Given the description of an element on the screen output the (x, y) to click on. 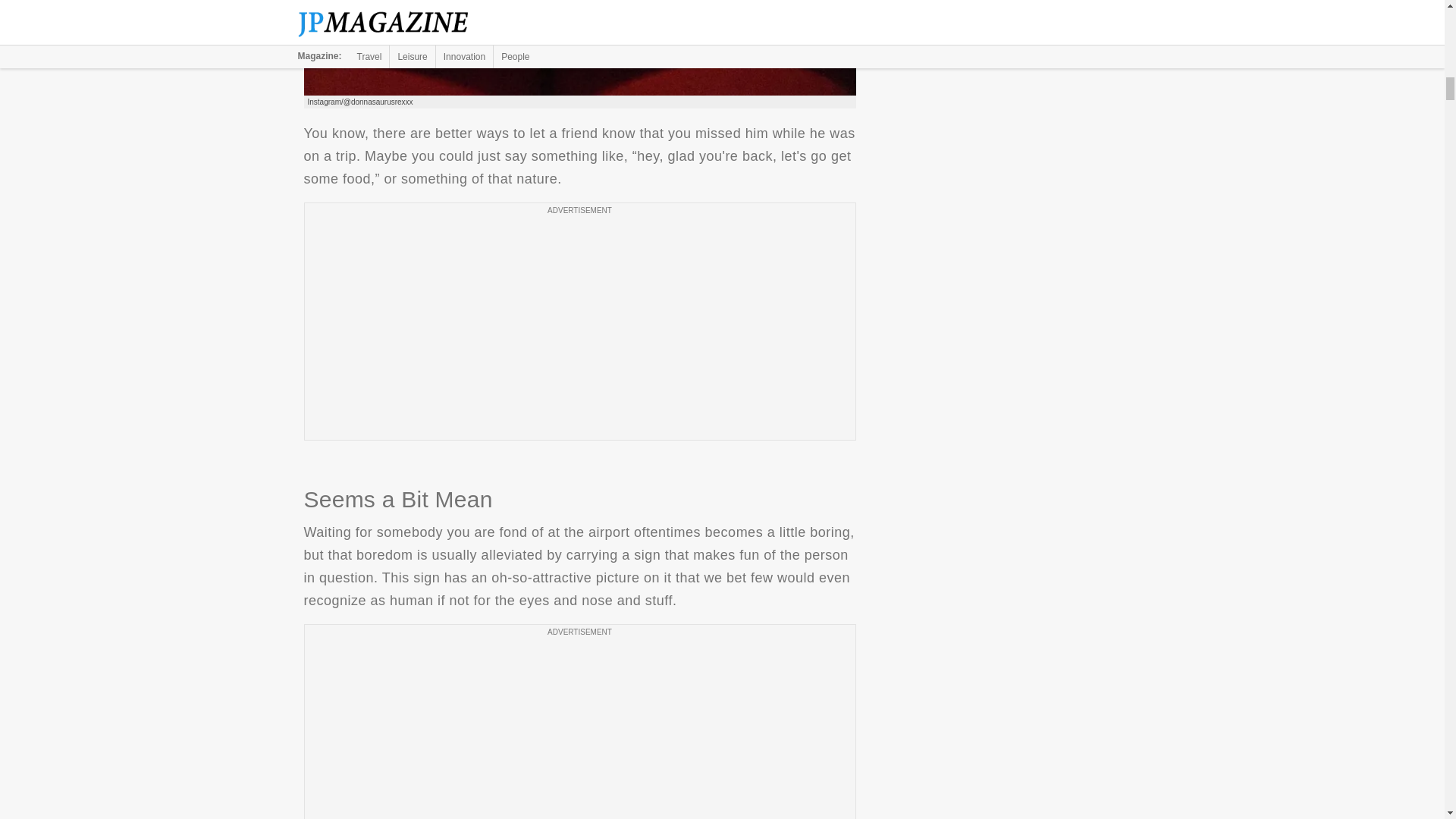
That Will Teach You to Leave Me (579, 47)
